Given the description of an element on the screen output the (x, y) to click on. 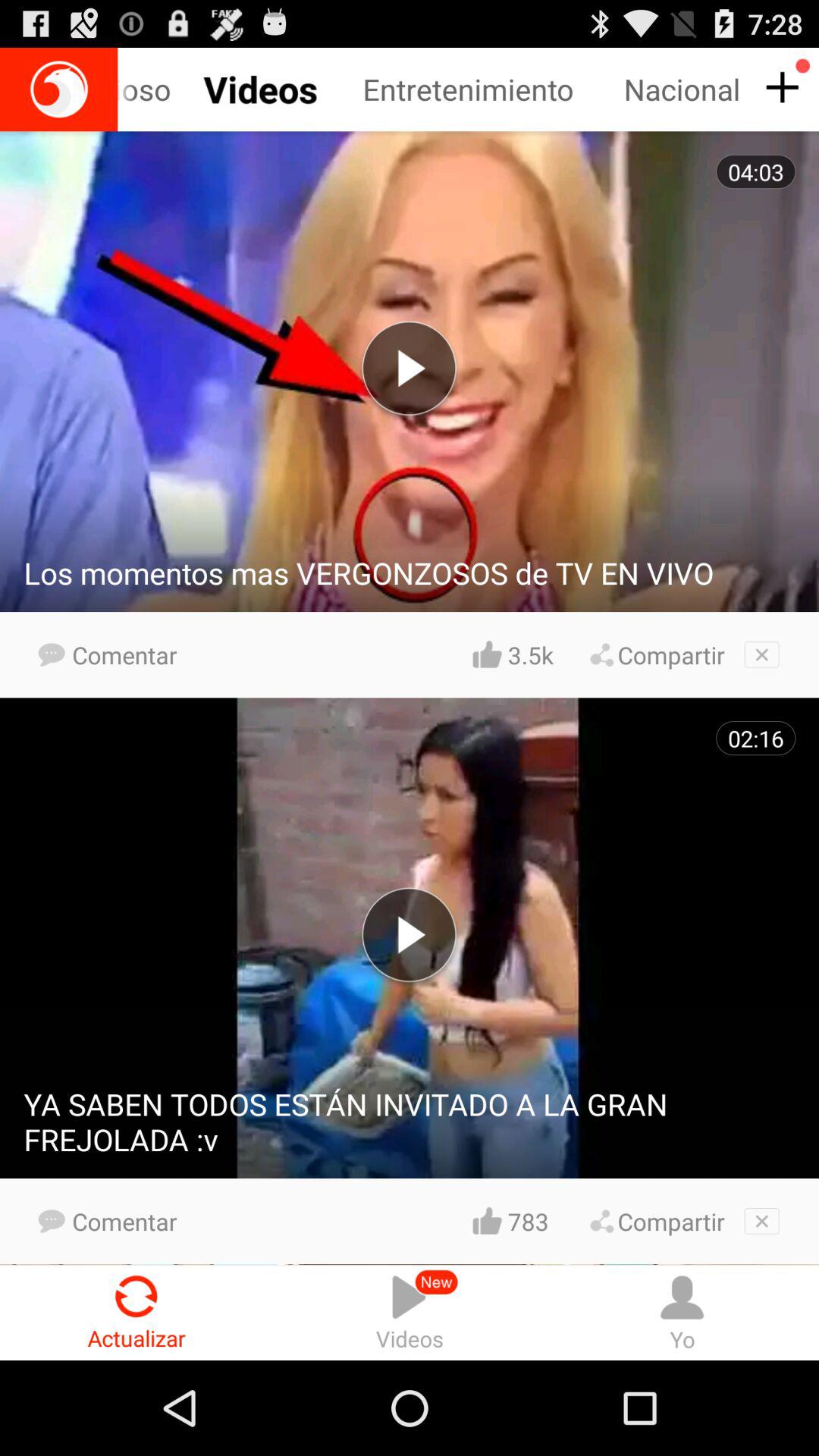
more info (779, 87)
